Given the description of an element on the screen output the (x, y) to click on. 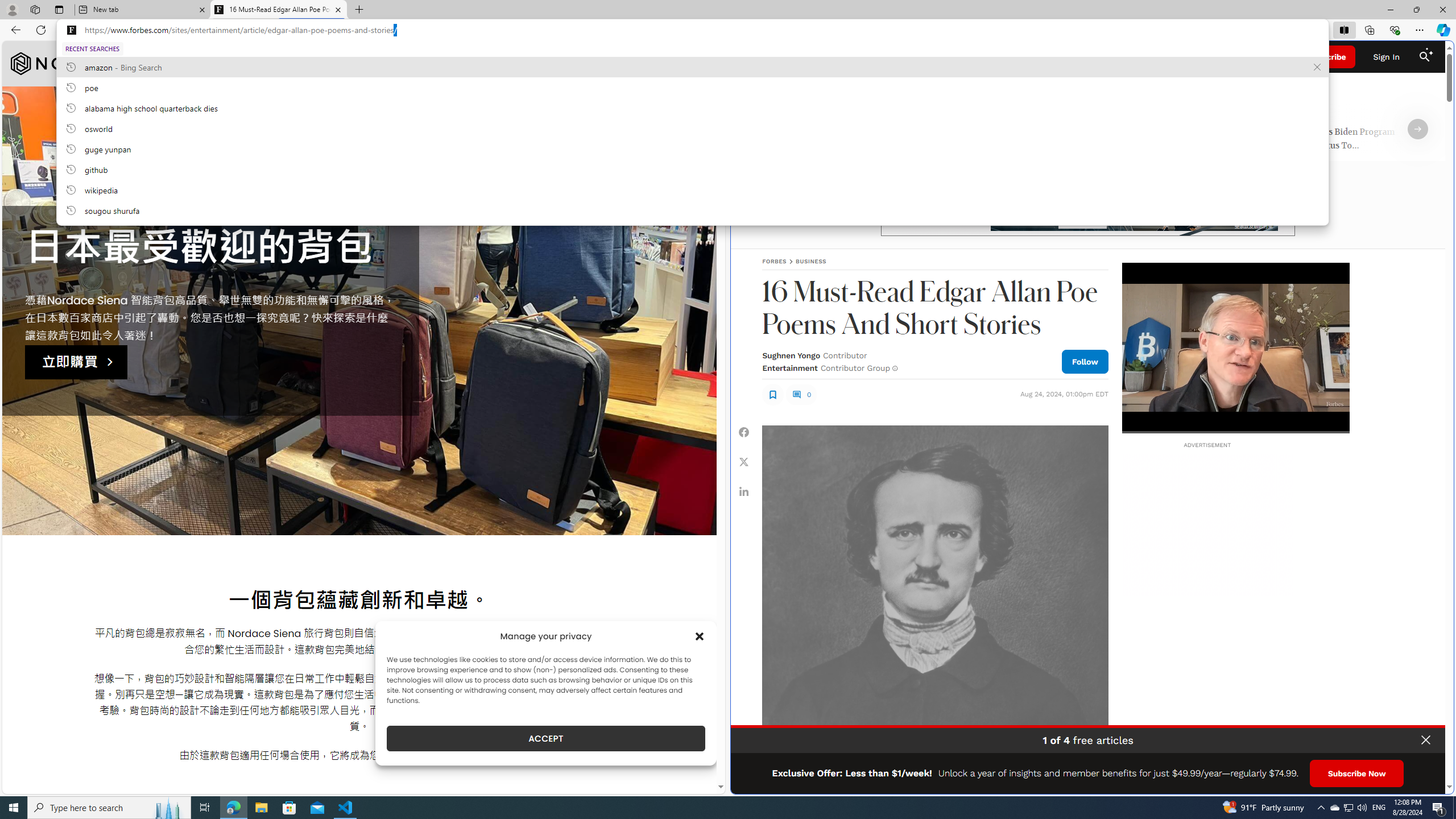
Arrow Right (1417, 129)
Terms (1434, 781)
Jack Smith Files New Indictment Against Trump In Jan. 6 Case (853, 139)
FORBES (774, 261)
BUSINESS (810, 261)
Class: fs-icon fs-icon--comment (796, 394)
wikipedia, recent searches from history (691, 189)
osworld, recent searches from history (691, 127)
